Given the description of an element on the screen output the (x, y) to click on. 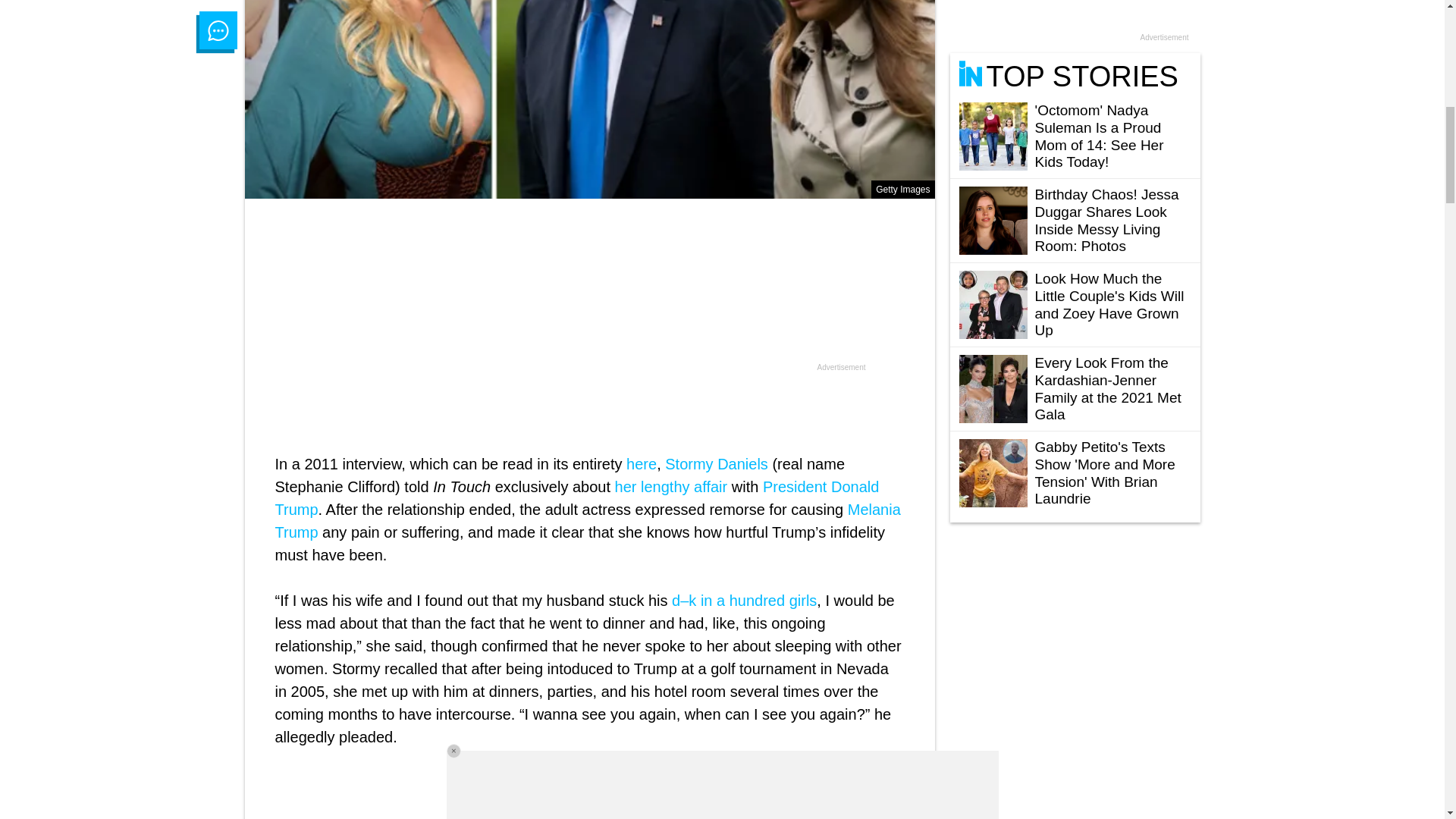
3rd party ad content (1062, 665)
3rd party ad content (590, 325)
3rd party ad content (1074, 15)
